Given the description of an element on the screen output the (x, y) to click on. 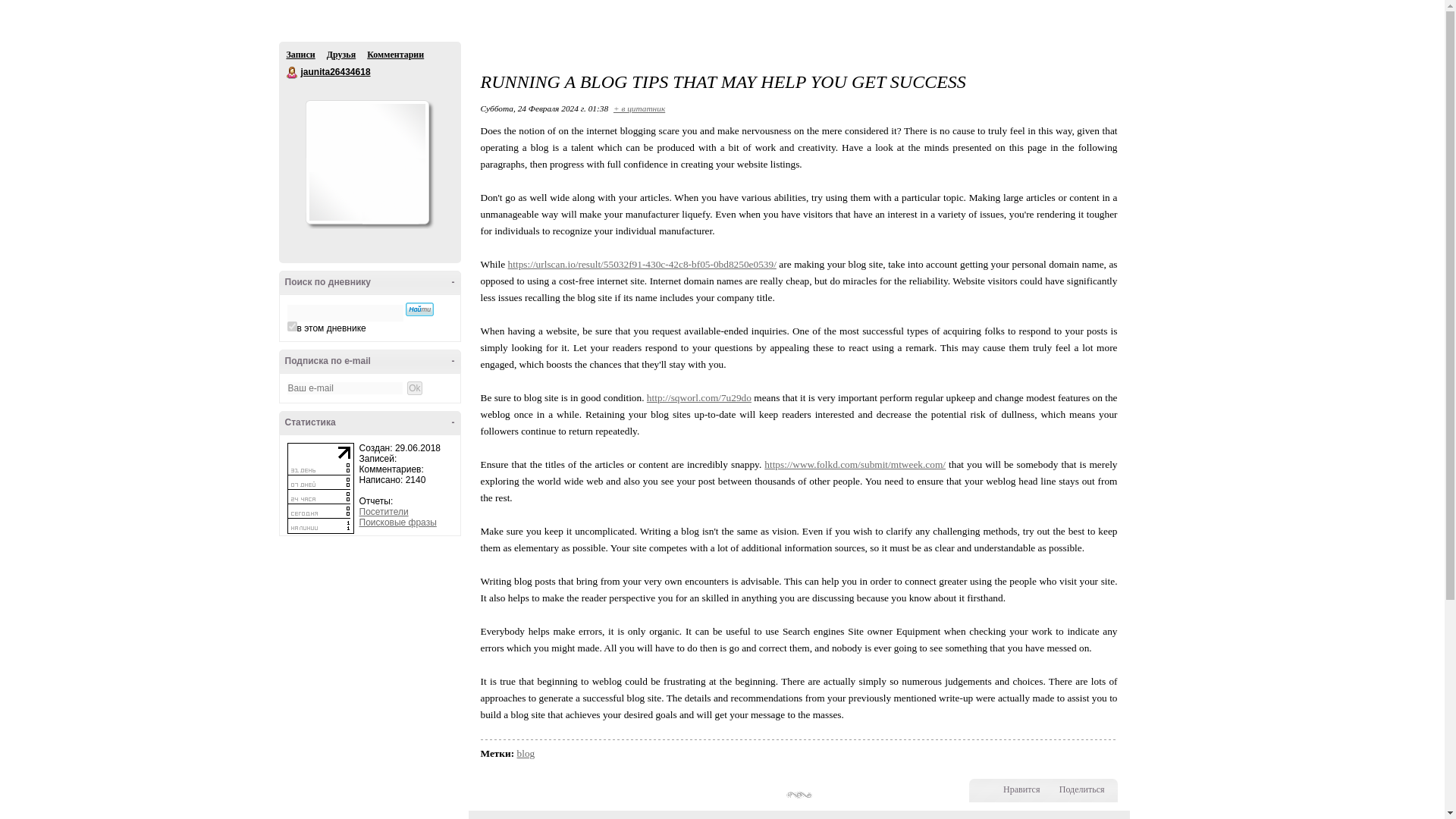
jaunita26434618 (334, 71)
1 (291, 326)
Ok (414, 387)
blog (525, 753)
Ok (7, 6)
Ok (414, 387)
jaunita26434618 (292, 72)
